Given the description of an element on the screen output the (x, y) to click on. 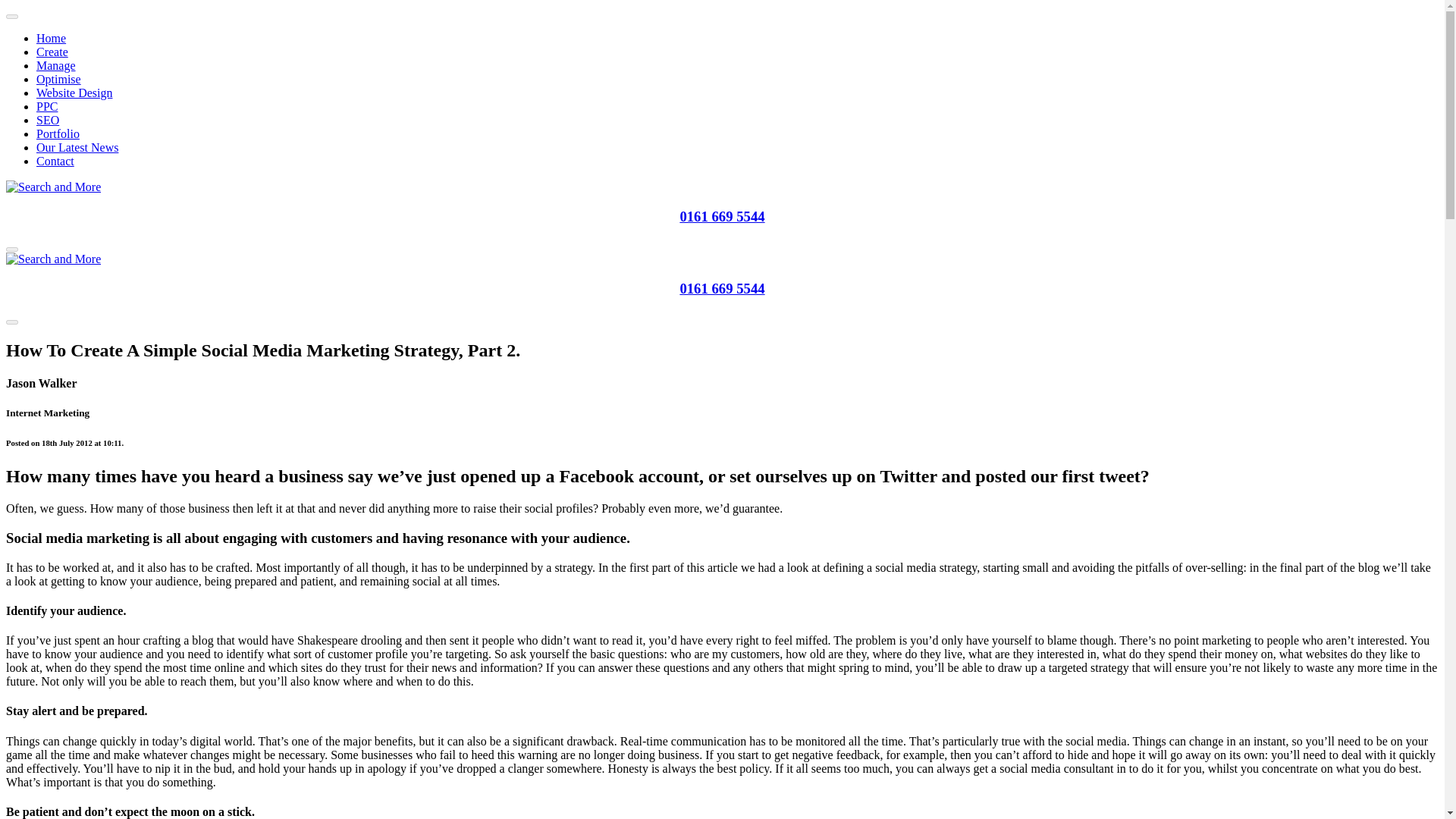
Portfolio (58, 133)
Website Design (74, 92)
0161 669 5544 (721, 288)
Create (52, 51)
SEO (47, 119)
Our Latest News (76, 146)
Contact (55, 160)
Contact (55, 160)
PPC (47, 106)
Home (50, 38)
